Given the description of an element on the screen output the (x, y) to click on. 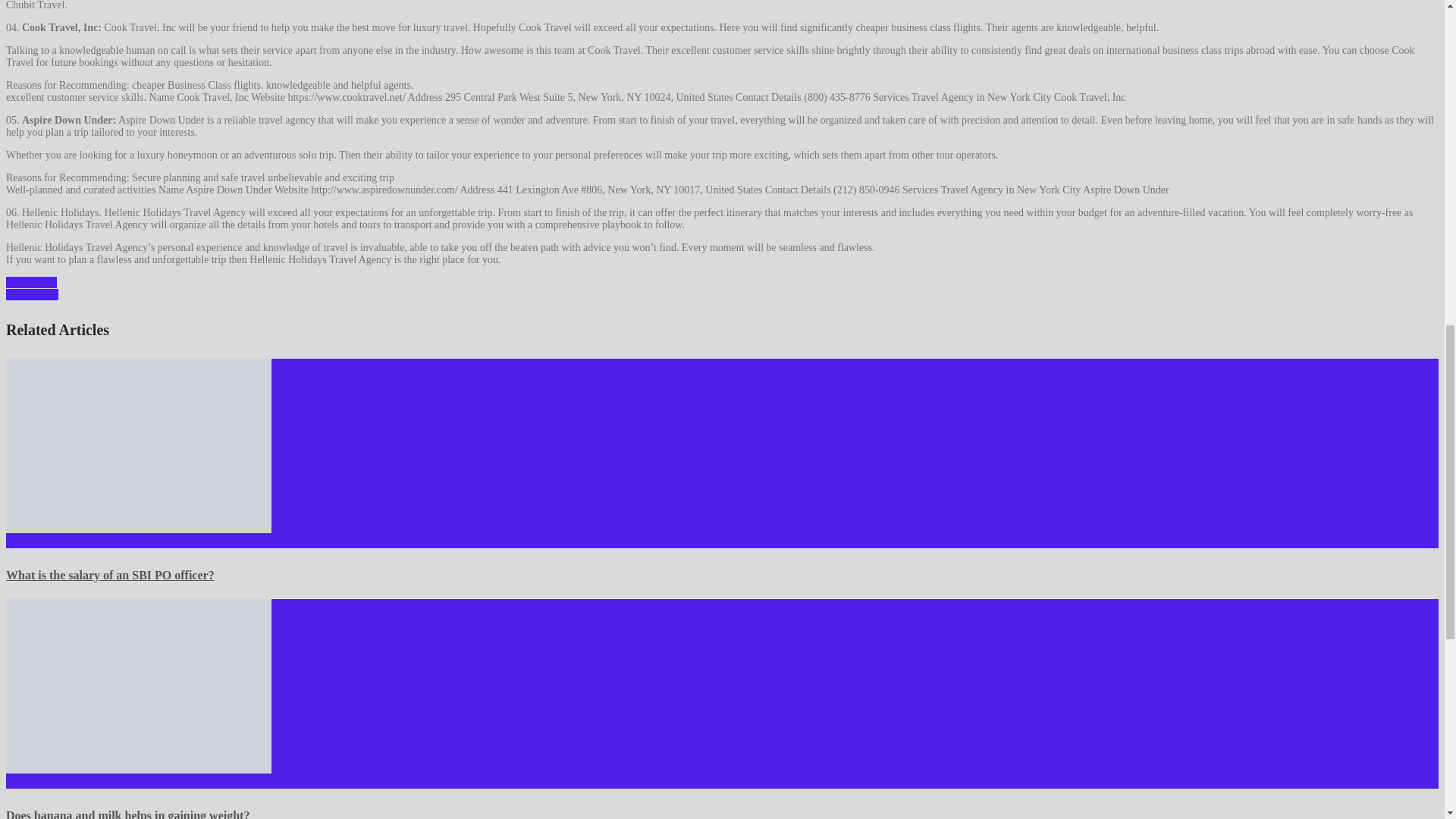
Does banana and milk helps in gaining weight? (126, 814)
Prev Article (30, 282)
What is the salary of an SBI PO officer? (109, 574)
Does banana and milk helps in gaining weight? (137, 685)
What is the salary of an SBI PO officer? (137, 445)
Does banana and milk helps in gaining weight? (126, 814)
Next Article (31, 294)
What is the salary of an SBI PO officer? (109, 574)
